Given the description of an element on the screen output the (x, y) to click on. 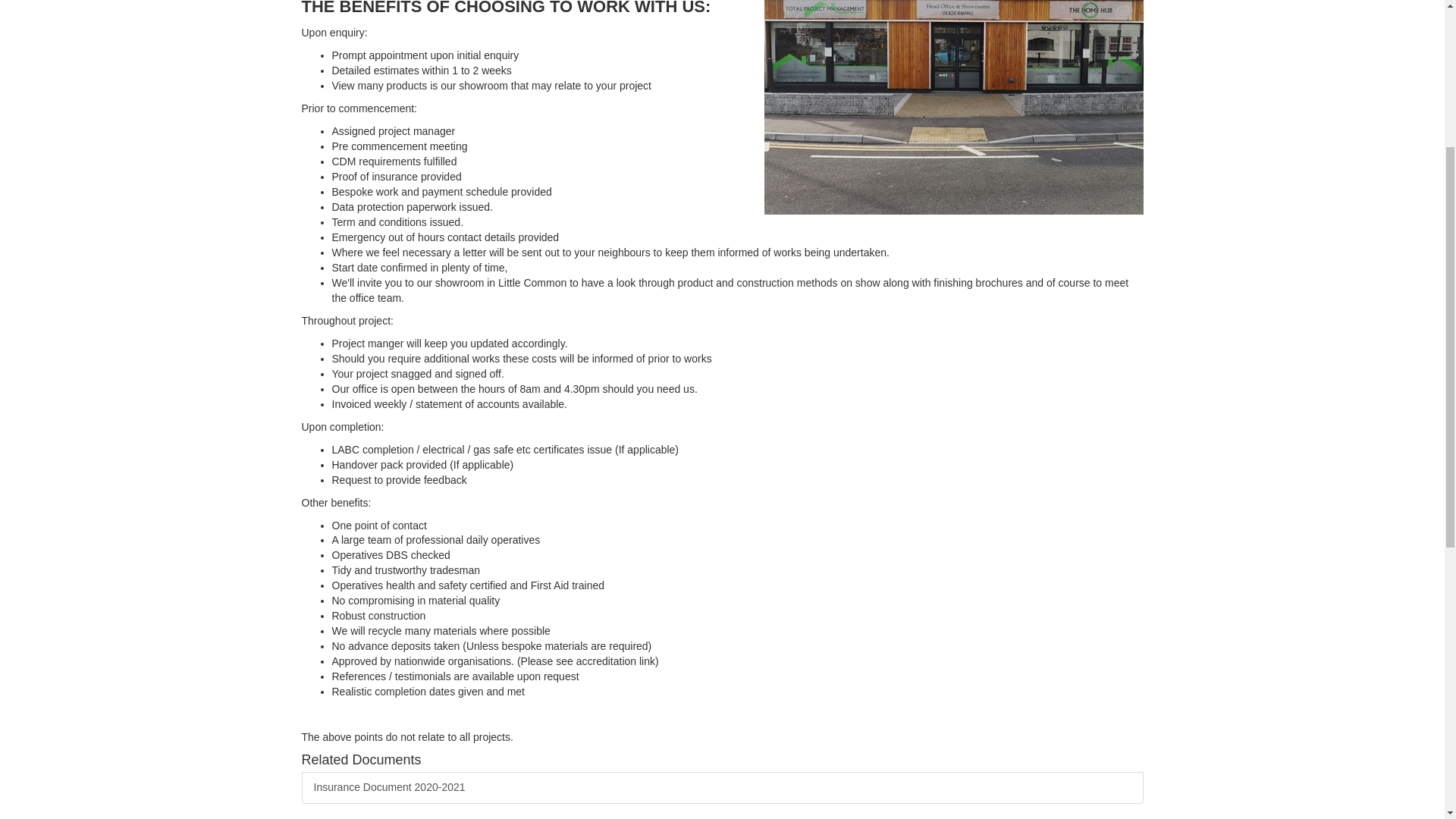
Insurance Document 2020-2021 (721, 787)
